Given the description of an element on the screen output the (x, y) to click on. 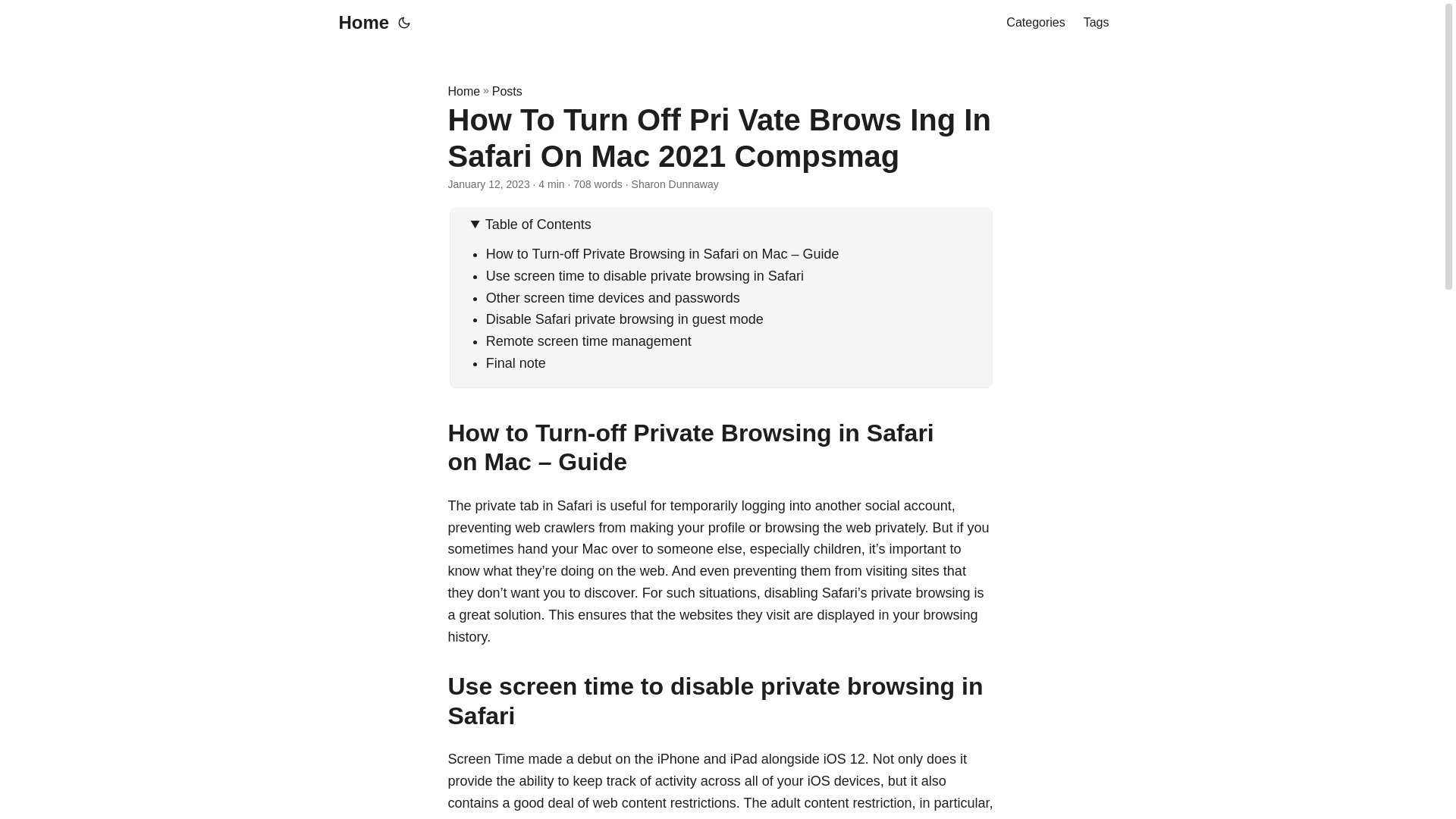
Home (359, 22)
Categories (1035, 22)
Disable Safari private browsing in guest mode (624, 319)
Posts (507, 91)
Other screen time devices and passwords (612, 297)
Final note (516, 363)
Remote screen time management (588, 340)
Categories (1035, 22)
Home (463, 91)
Use screen time to disable private browsing in Safari (644, 275)
